Given the description of an element on the screen output the (x, y) to click on. 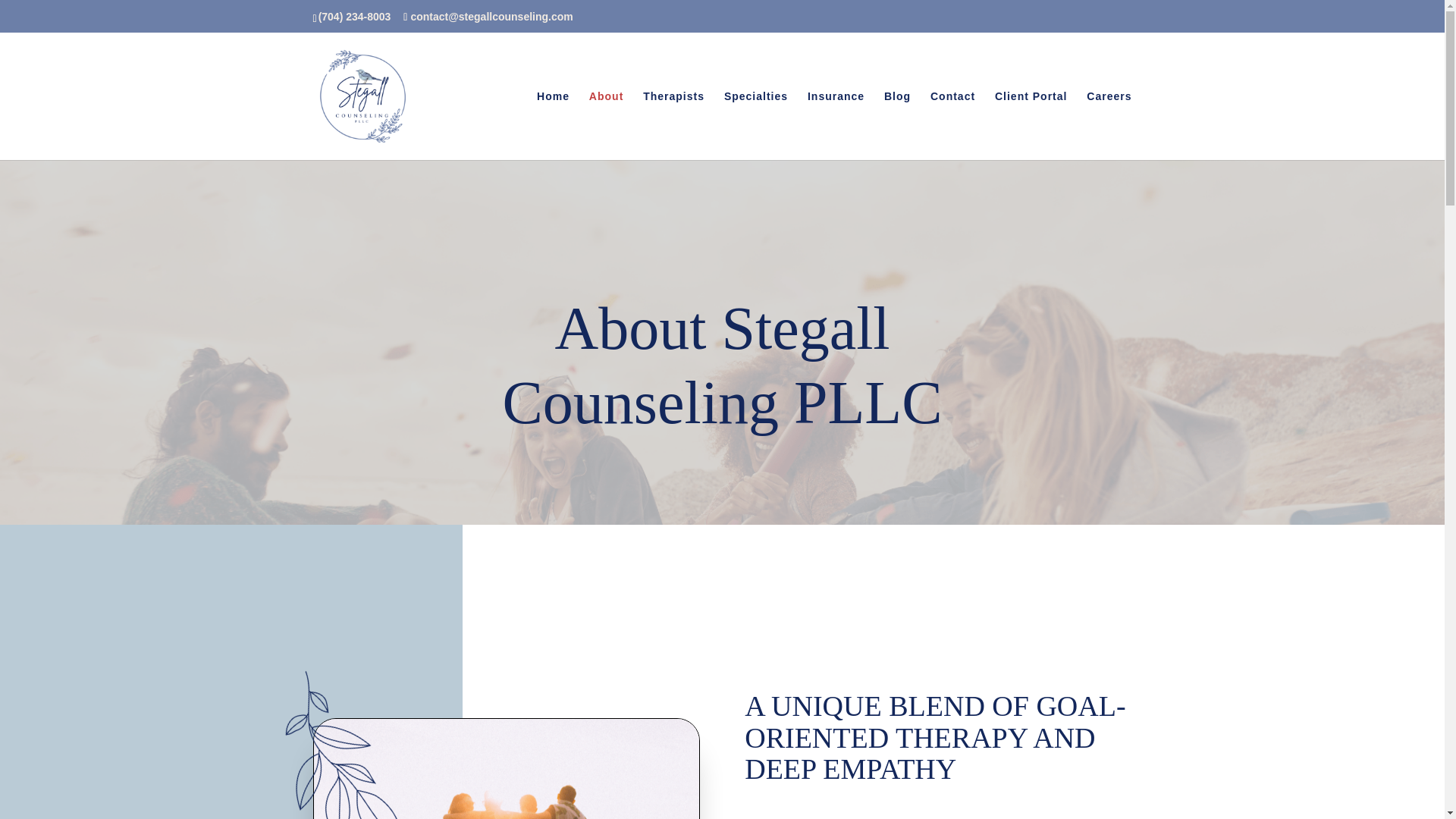
ABOUT PAGE (506, 769)
Therapists (673, 124)
Client Portal (1030, 124)
1 (330, 744)
Specialties (755, 124)
